Given the description of an element on the screen output the (x, y) to click on. 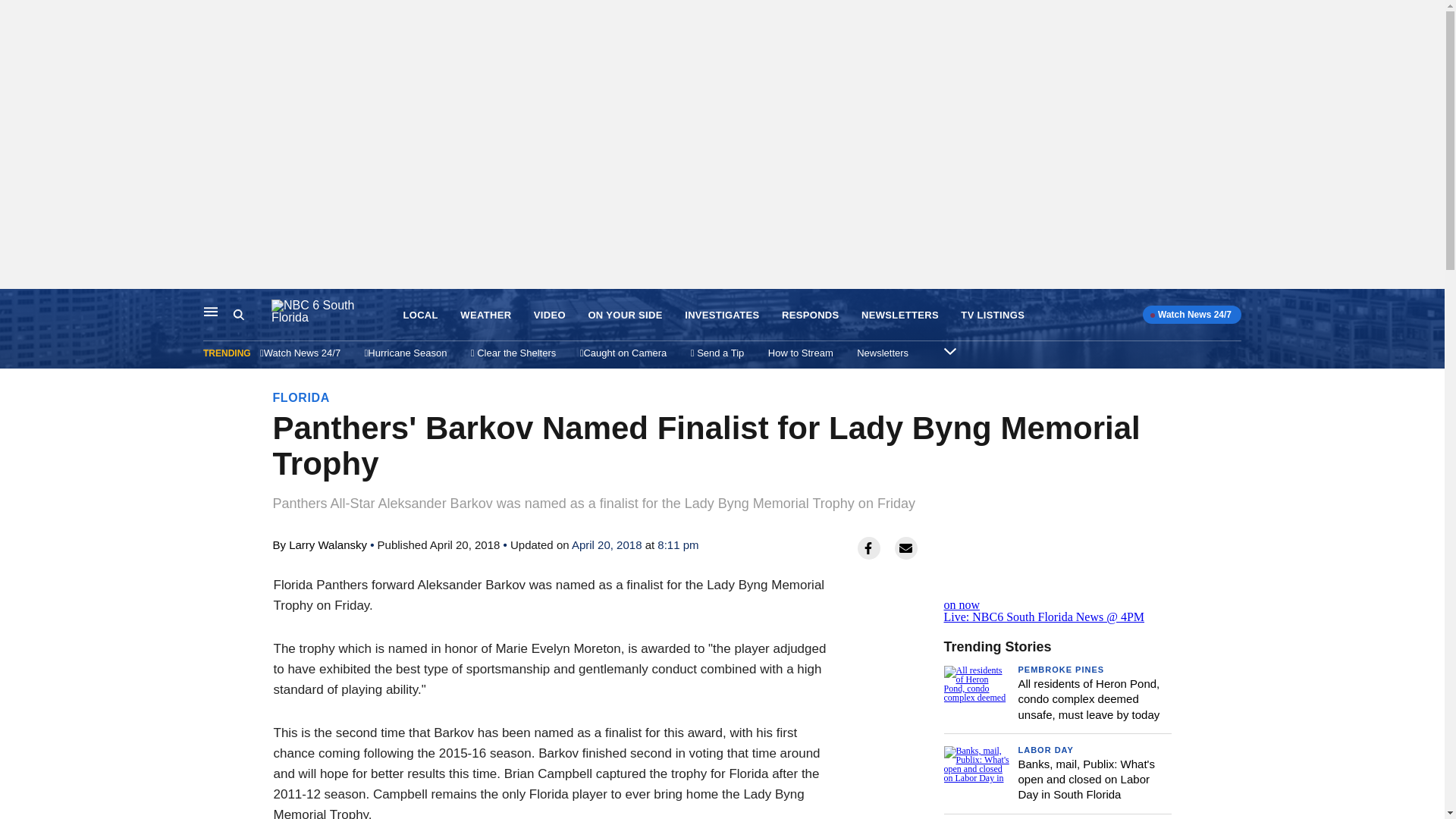
VIDEO (550, 315)
Search (252, 314)
PEMBROKE PINES (1060, 669)
NEWSLETTERS (900, 315)
LABOR DAY (1045, 749)
How to Stream (800, 352)
Expand (949, 350)
FLORIDA (301, 397)
Newsletters (882, 352)
INVESTIGATES (721, 315)
